Given the description of an element on the screen output the (x, y) to click on. 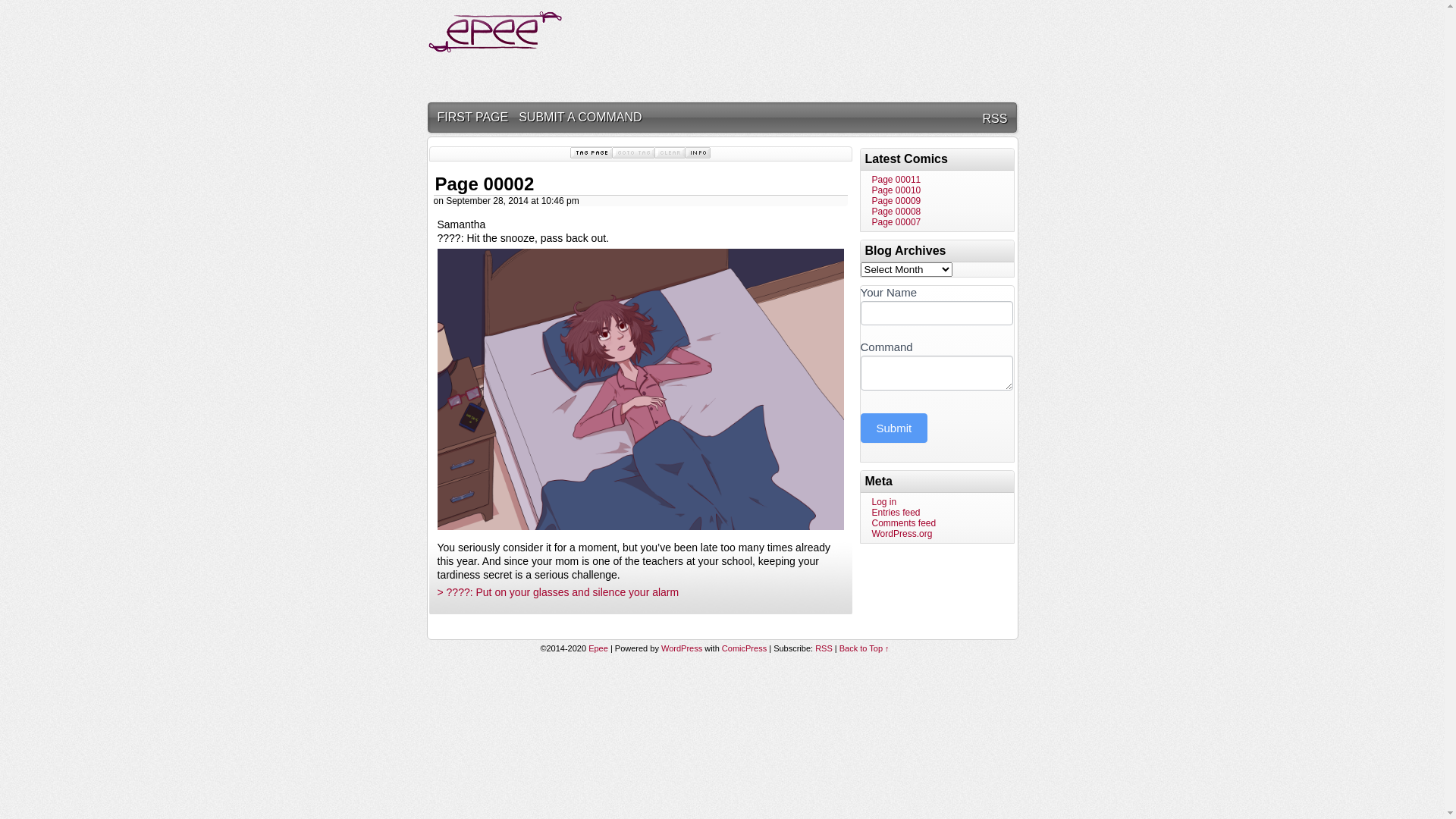
Page 00007 Element type: text (896, 221)
Page 00011 Element type: text (896, 179)
ComicPress Element type: text (743, 647)
Epee Element type: text (598, 647)
FIRST PAGE Element type: text (473, 116)
Submit Element type: text (893, 427)
> ????: Put on your glasses and silence your alarm Element type: text (557, 592)
WordPress Element type: text (681, 647)
SUBMIT A COMMAND Element type: text (579, 116)
RSS Element type: text (823, 647)
Entries feed Element type: text (896, 512)
Page 00010 Element type: text (896, 190)
Epee Element type: text (494, 52)
Log in Element type: text (884, 501)
Page 00009 Element type: text (896, 200)
WordPress.org Element type: text (902, 533)
Comments feed Element type: text (904, 522)
Page 00008 Element type: text (896, 211)
RSS Element type: text (994, 118)
